Given the description of an element on the screen output the (x, y) to click on. 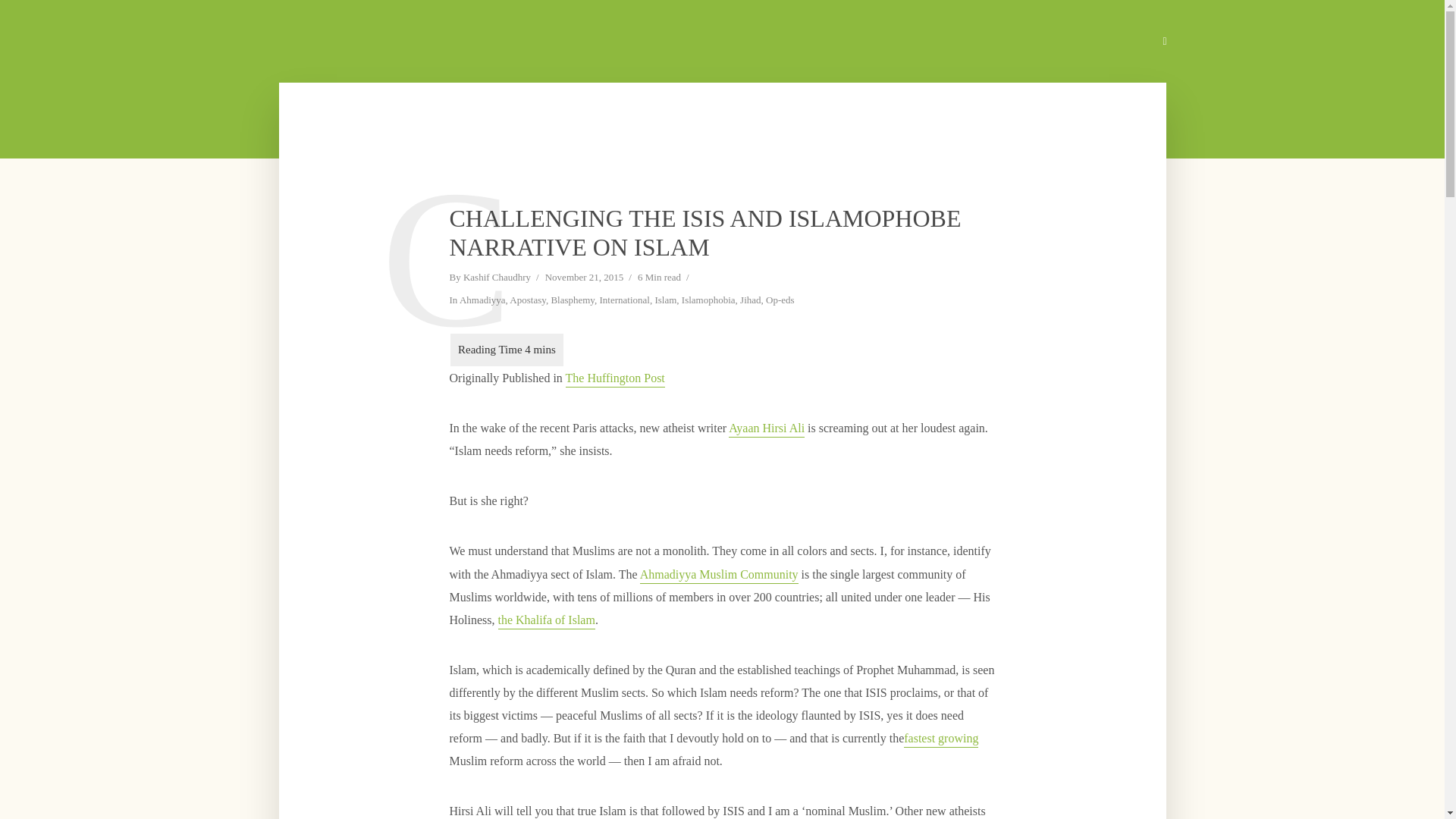
Apostasy (527, 301)
Ayaan Hirsi Ali (767, 429)
Ahmadiyya (482, 301)
Ahmadiyya Muslim Community (718, 575)
Kashif Chaudhry (497, 278)
Blasphemy (572, 301)
International (624, 301)
Islam (665, 301)
Islamophobia (708, 301)
Jihad (749, 301)
